Given the description of an element on the screen output the (x, y) to click on. 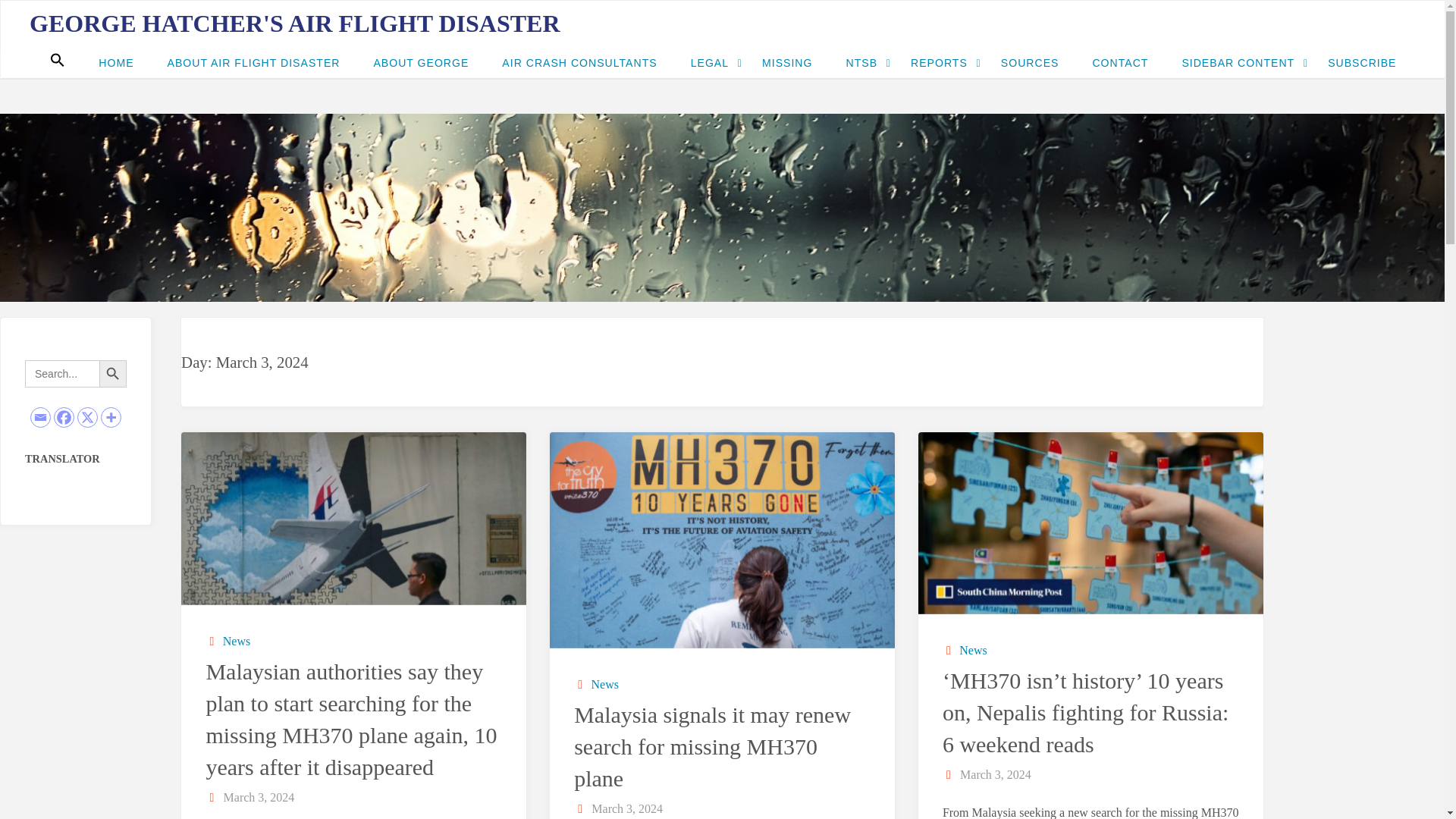
Date (580, 808)
Date (212, 797)
Categories (212, 640)
Malaysia signals it may renew search for missing MH370 plane (722, 539)
Categories (580, 684)
Categories (949, 649)
Date (949, 774)
